Given the description of an element on the screen output the (x, y) to click on. 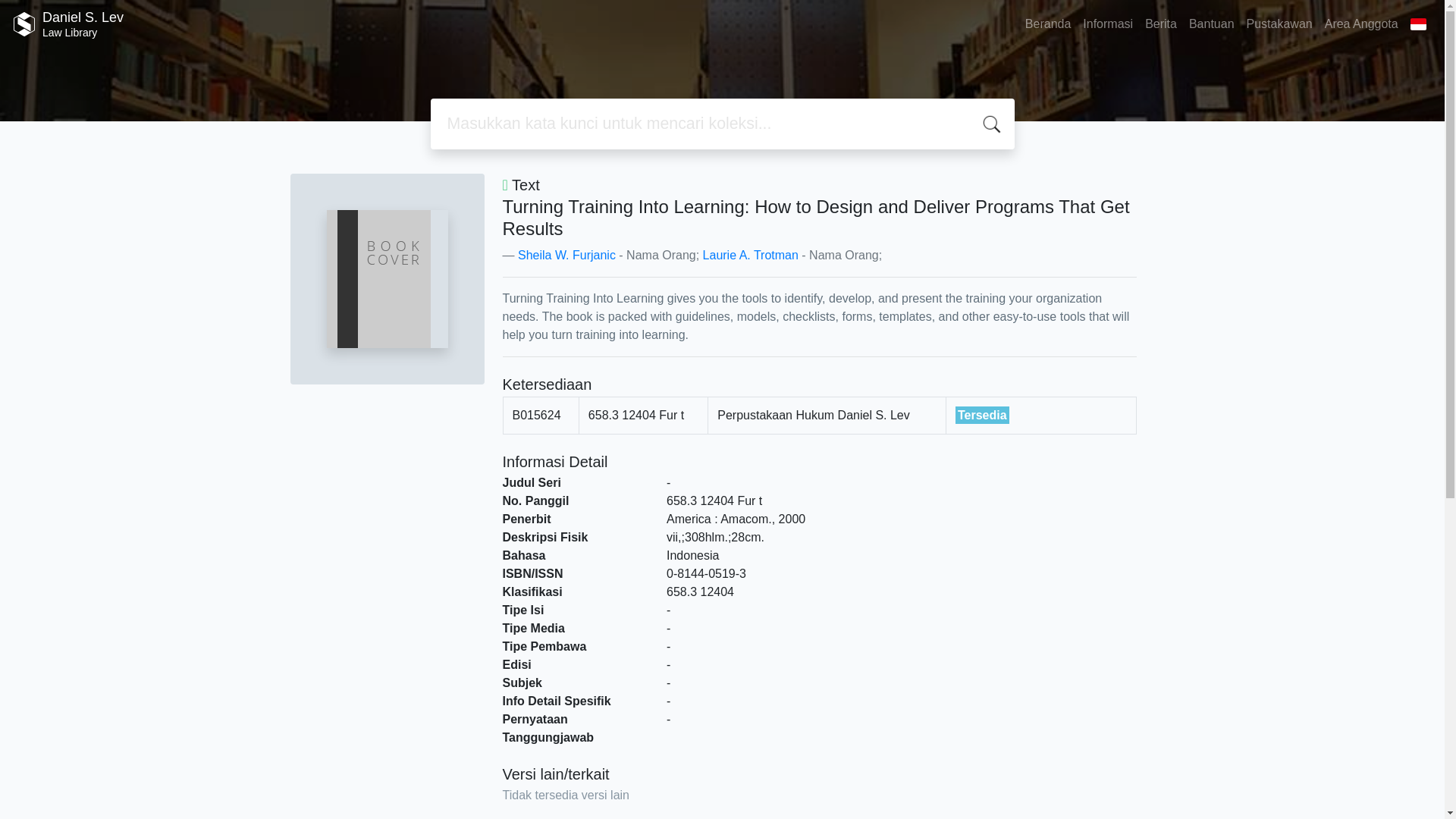
Informasi (1107, 24)
Bantuan (1211, 24)
Laurie A. Trotman (750, 254)
Berita (67, 23)
Sheila W. Furjanic (1160, 24)
Klik disini untuk mencari dokumen lain dari pengarang ini (566, 254)
Beranda (566, 254)
Area Anggota (1048, 24)
Klik disini untuk mencari dokumen lain dari pengarang ini (1362, 24)
